Given the description of an element on the screen output the (x, y) to click on. 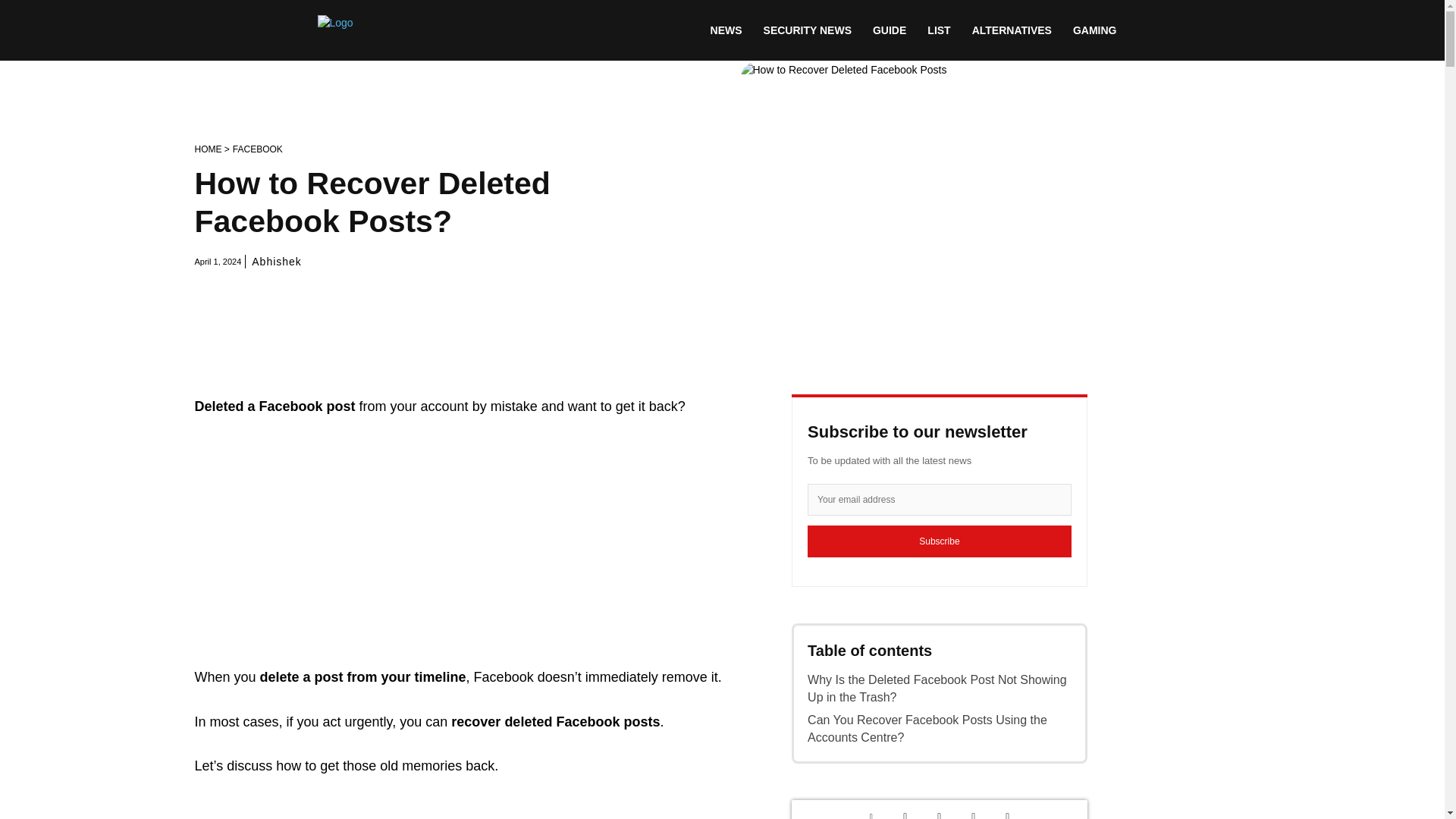
Abhishek (276, 261)
Youtube (1007, 811)
View all posts in Facebook (257, 149)
Twitter (904, 811)
Can You Recover Facebook Posts Using the Accounts Centre? (939, 728)
Subscribe (939, 541)
SECURITY NEWS (806, 30)
GUIDE (889, 30)
